Given the description of an element on the screen output the (x, y) to click on. 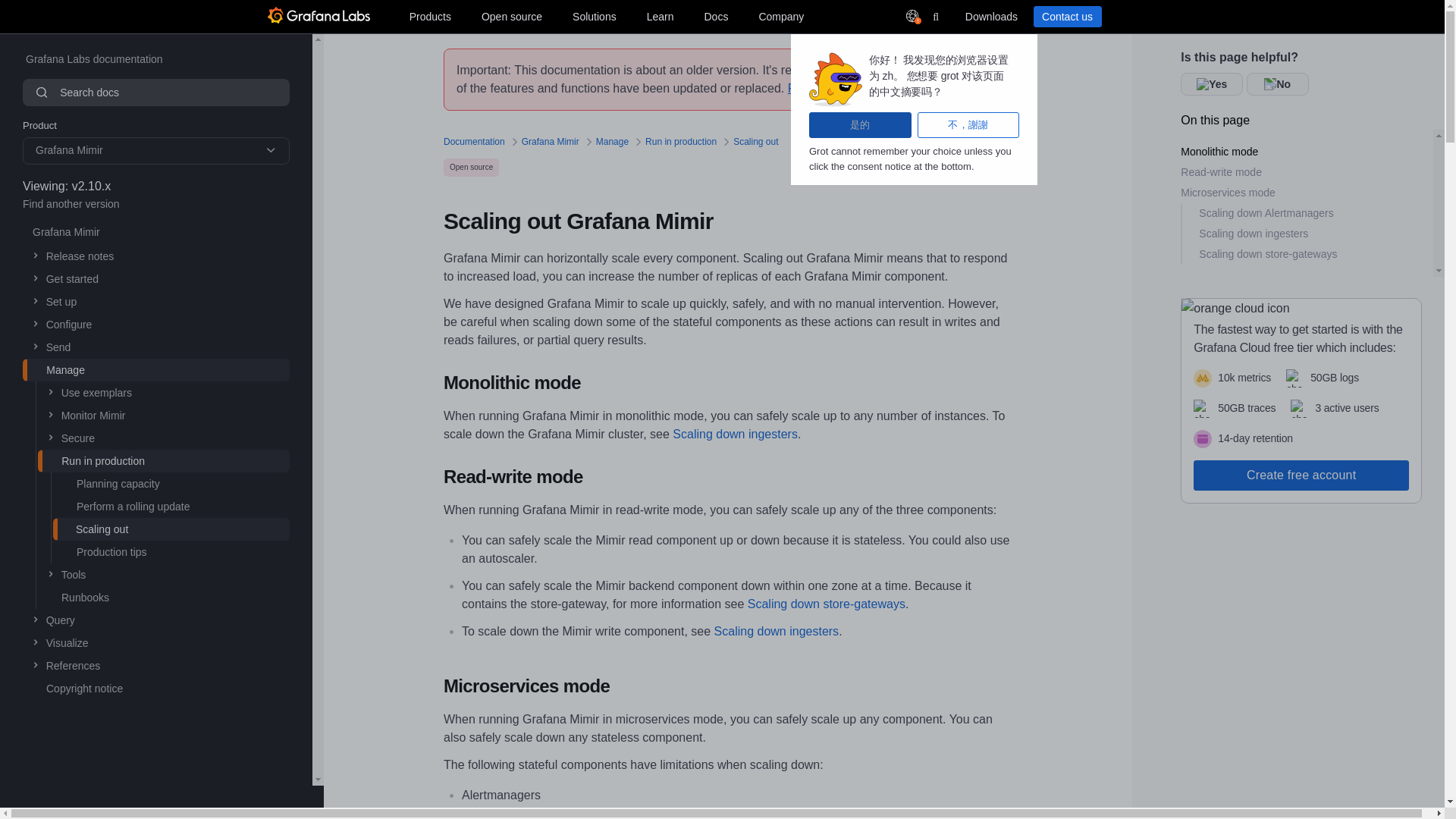
Open source (512, 16)
Solutions (594, 16)
Products (429, 16)
Downloads (990, 16)
Contact us (1066, 16)
Docs (715, 16)
Learn (660, 16)
Company (780, 16)
